Given the description of an element on the screen output the (x, y) to click on. 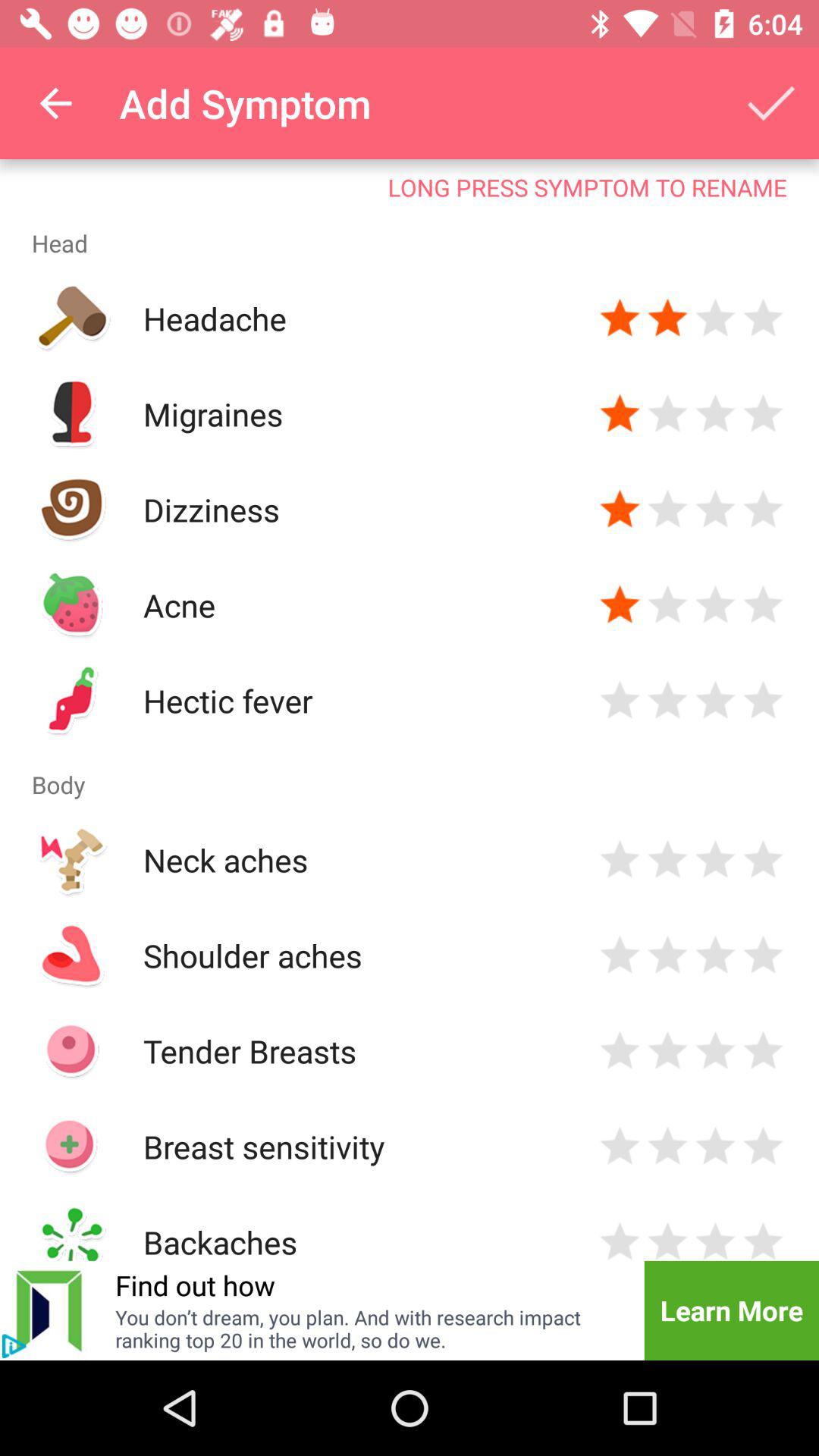
backaches one star (619, 1239)
